Given the description of an element on the screen output the (x, y) to click on. 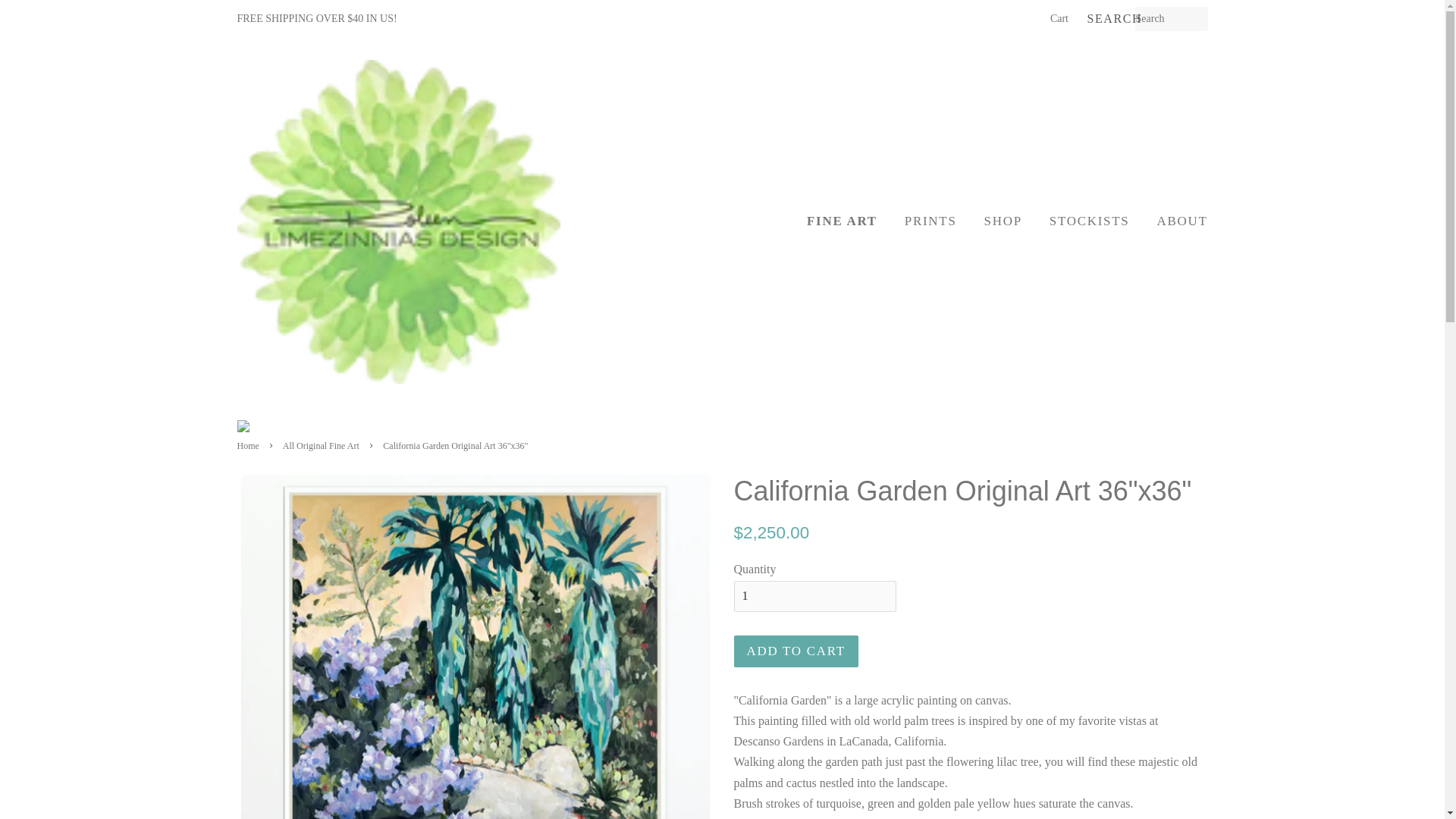
SEARCH (1110, 18)
1 (814, 595)
Cart (1058, 18)
Back to the frontpage (248, 445)
